Given the description of an element on the screen output the (x, y) to click on. 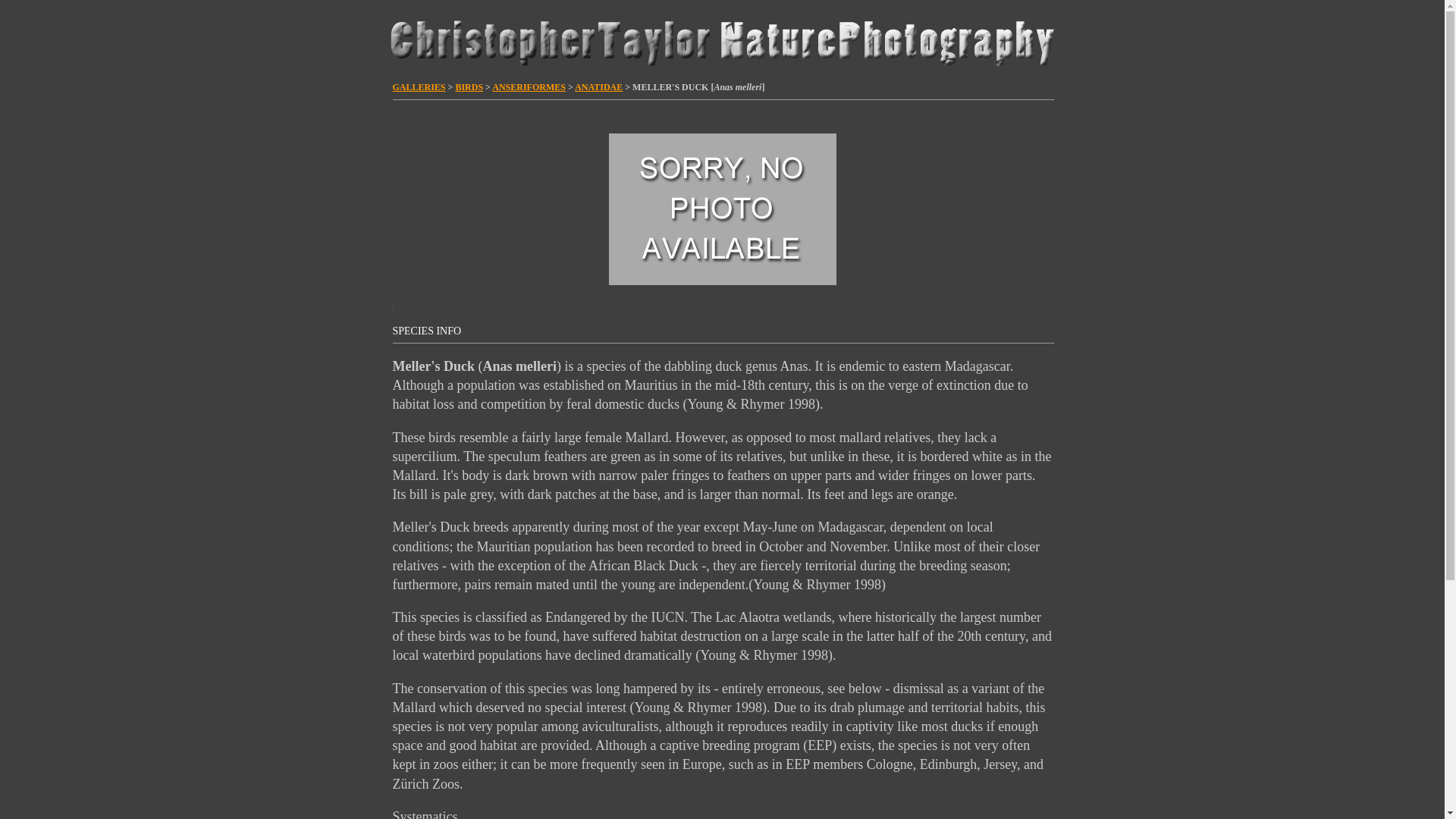
Christopher Taylor Bird Nature Wildlife Mammal Photography (721, 40)
GALLERIES (419, 86)
BIRDS (468, 86)
Meller's Duck Picture (721, 209)
ANATIDAE (599, 86)
ANSERIFORMES (529, 86)
